Given the description of an element on the screen output the (x, y) to click on. 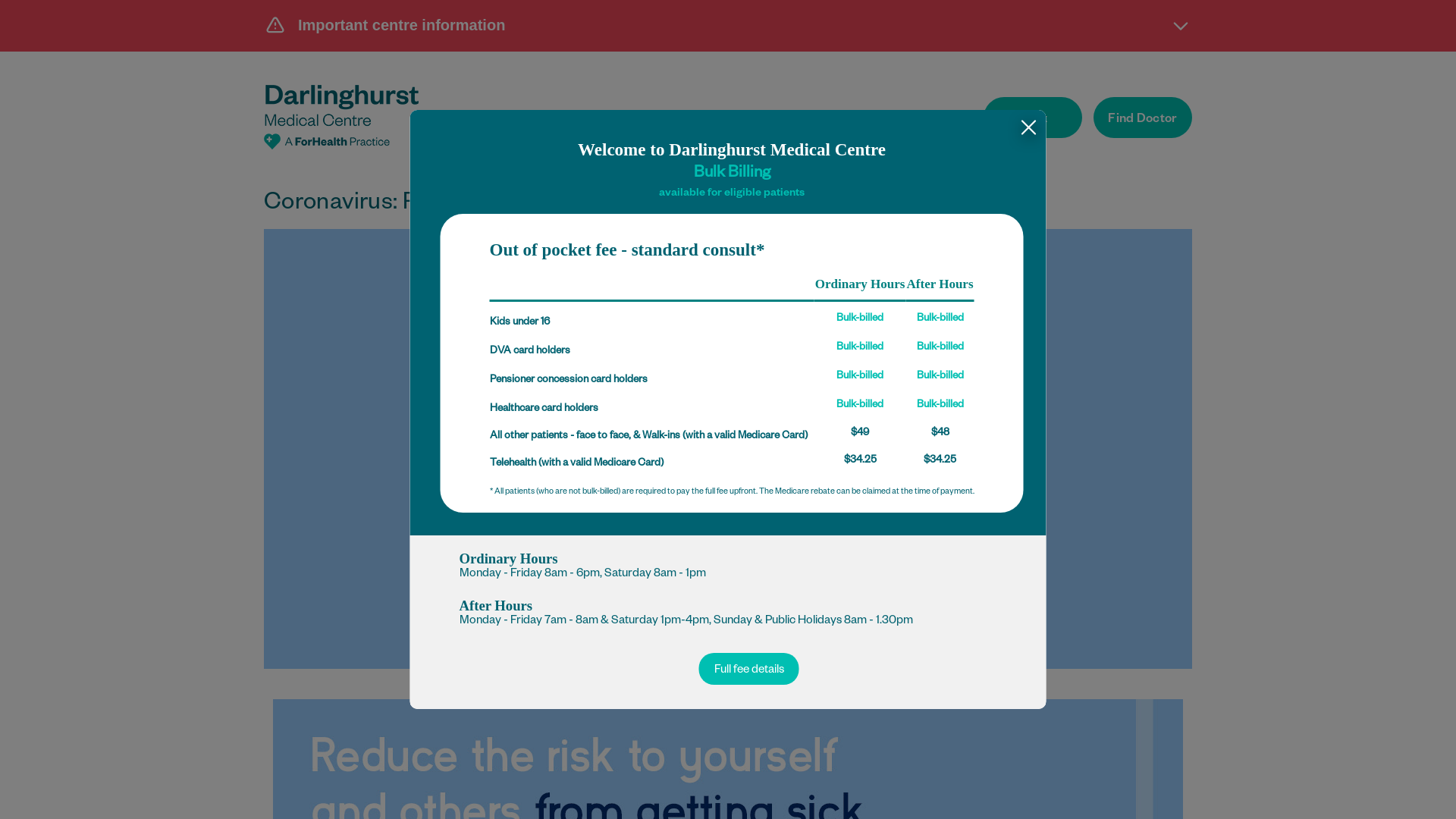
Darlinghurst Medical Centre Element type: hover (340, 116)
Book Element type: text (1032, 117)
Coronavirus: Reducing the Risk Element type: hover (727, 448)
Important centre information Element type: text (727, 24)
Find Doctor Element type: text (1142, 117)
Services Element type: text (681, 119)
Full fee details Element type: text (749, 668)
Opportunities Element type: text (906, 119)
Patient Fees Element type: text (785, 119)
